Given the description of an element on the screen output the (x, y) to click on. 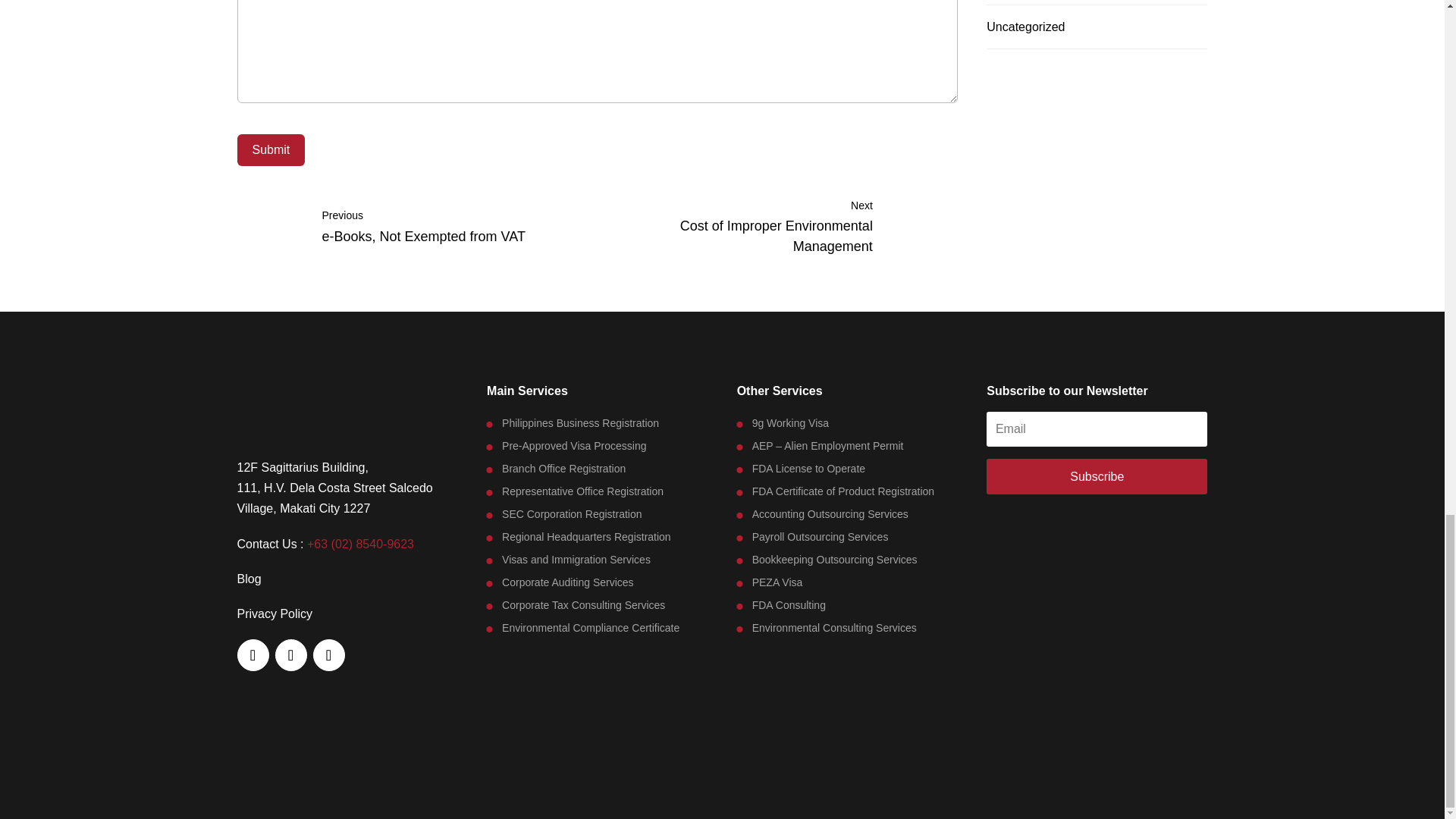
Follow on X (290, 654)
Follow on Facebook (251, 654)
triplei-logo-simplify-white (346, 413)
